Given the description of an element on the screen output the (x, y) to click on. 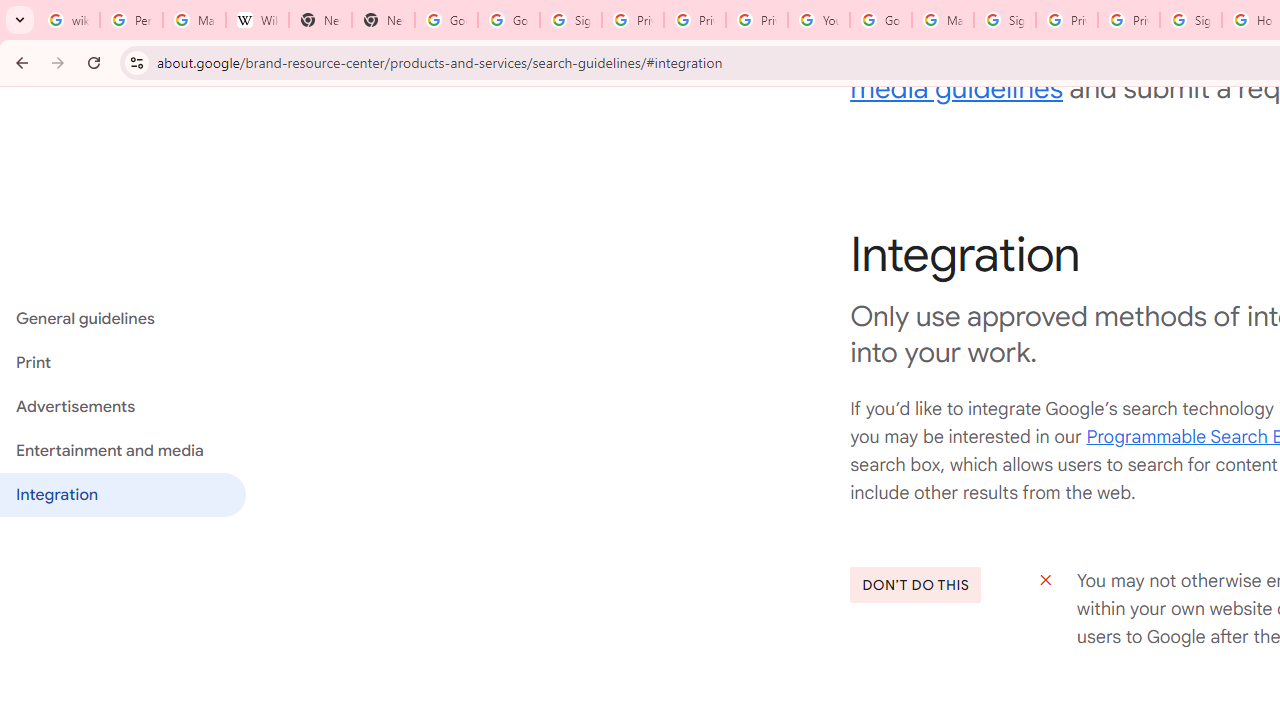
New Tab (320, 20)
Sign in - Google Accounts (1190, 20)
Integration (122, 494)
Advertisements (122, 407)
Google Account Help (880, 20)
General guidelines (122, 318)
Manage your Location History - Google Search Help (194, 20)
